Given the description of an element on the screen output the (x, y) to click on. 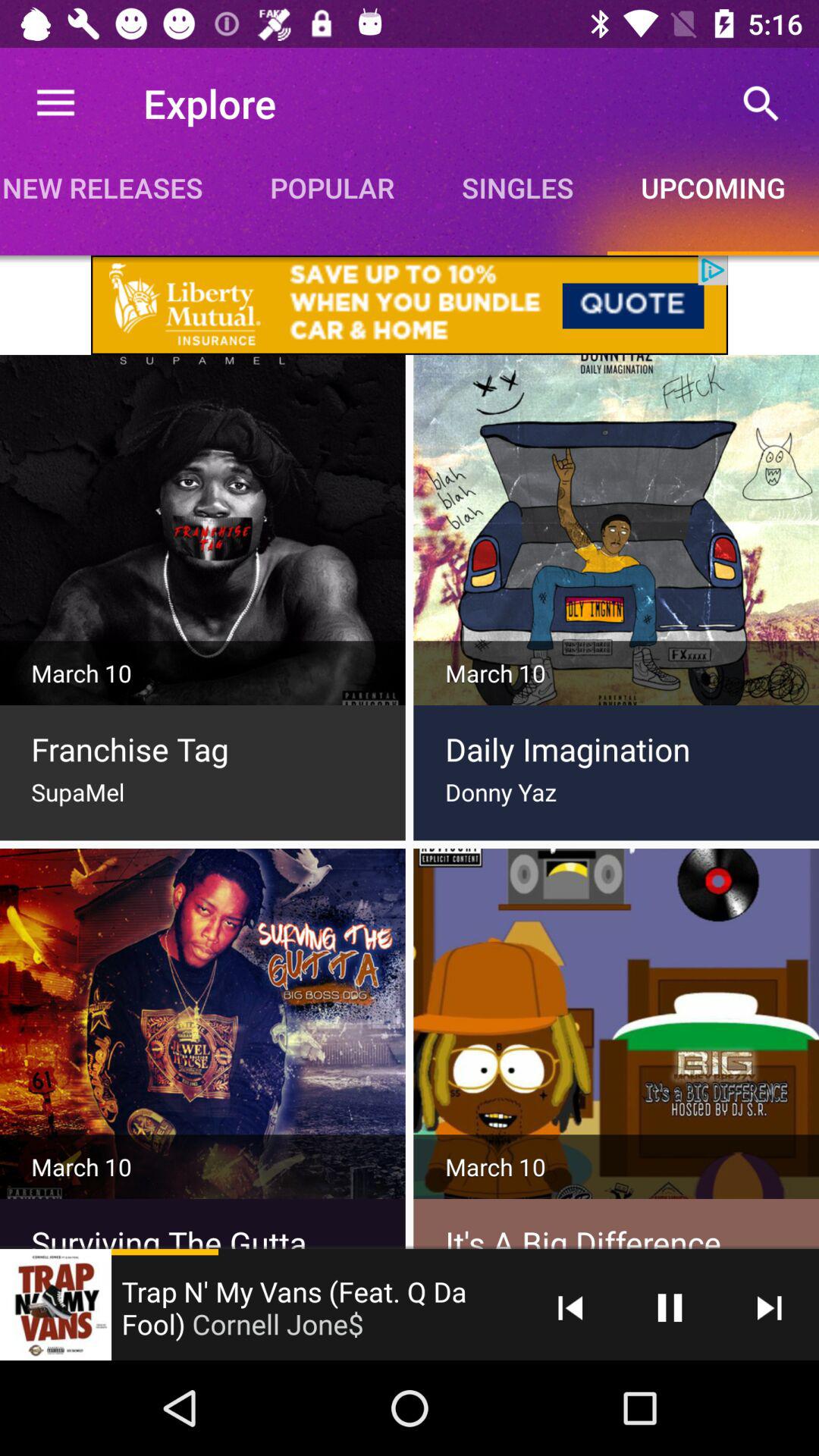
swipe to the popular icon (332, 187)
